Given the description of an element on the screen output the (x, y) to click on. 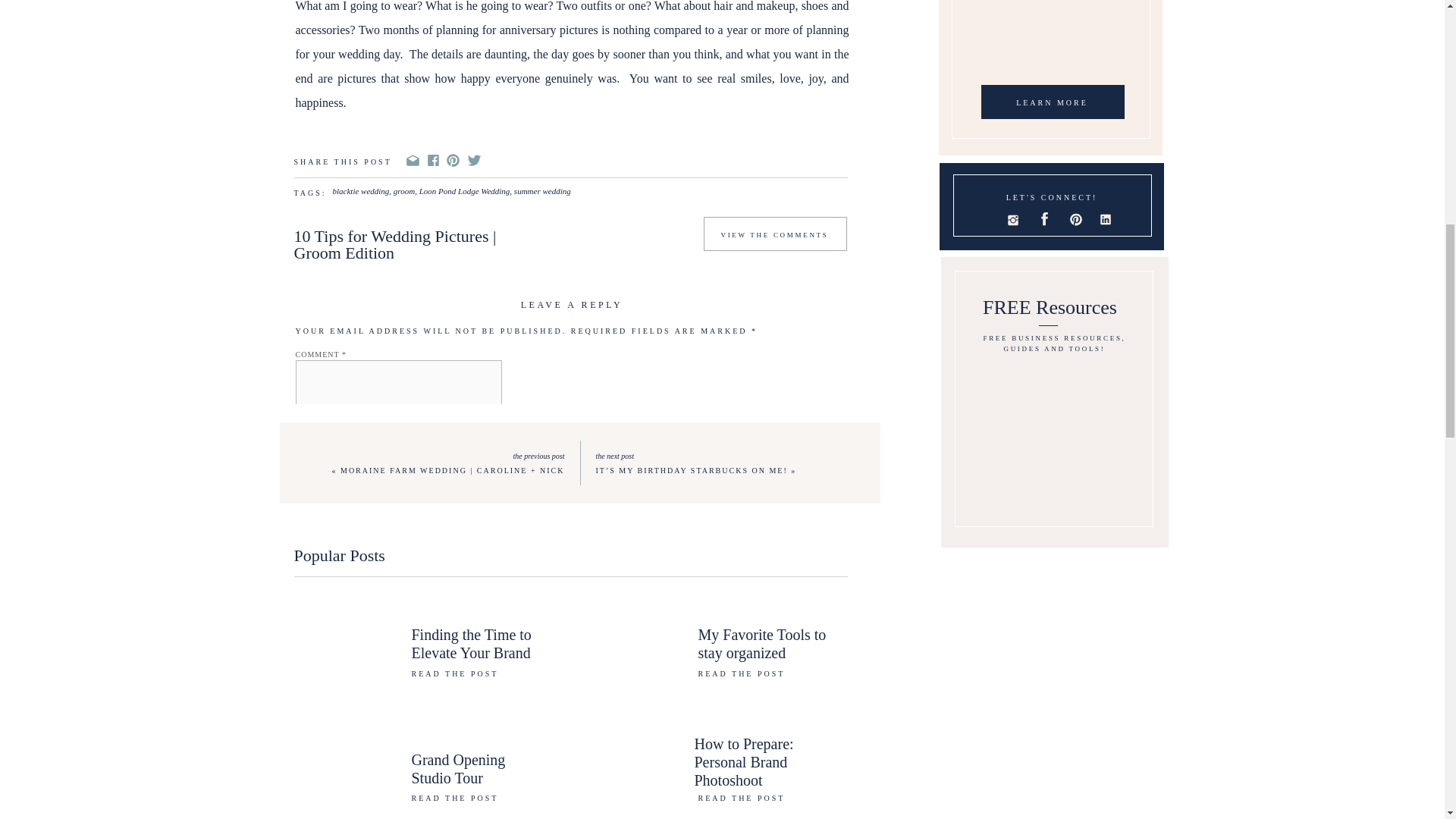
FREE BUSINESS RESOURCES, GUIDES AND TOOLS! (1054, 347)
Post Comment (360, 600)
FREE Resources (1049, 310)
groom getting ready for loon pond lodge wedding photo (571, 796)
LEARN MORE (1052, 105)
